Given the description of an element on the screen output the (x, y) to click on. 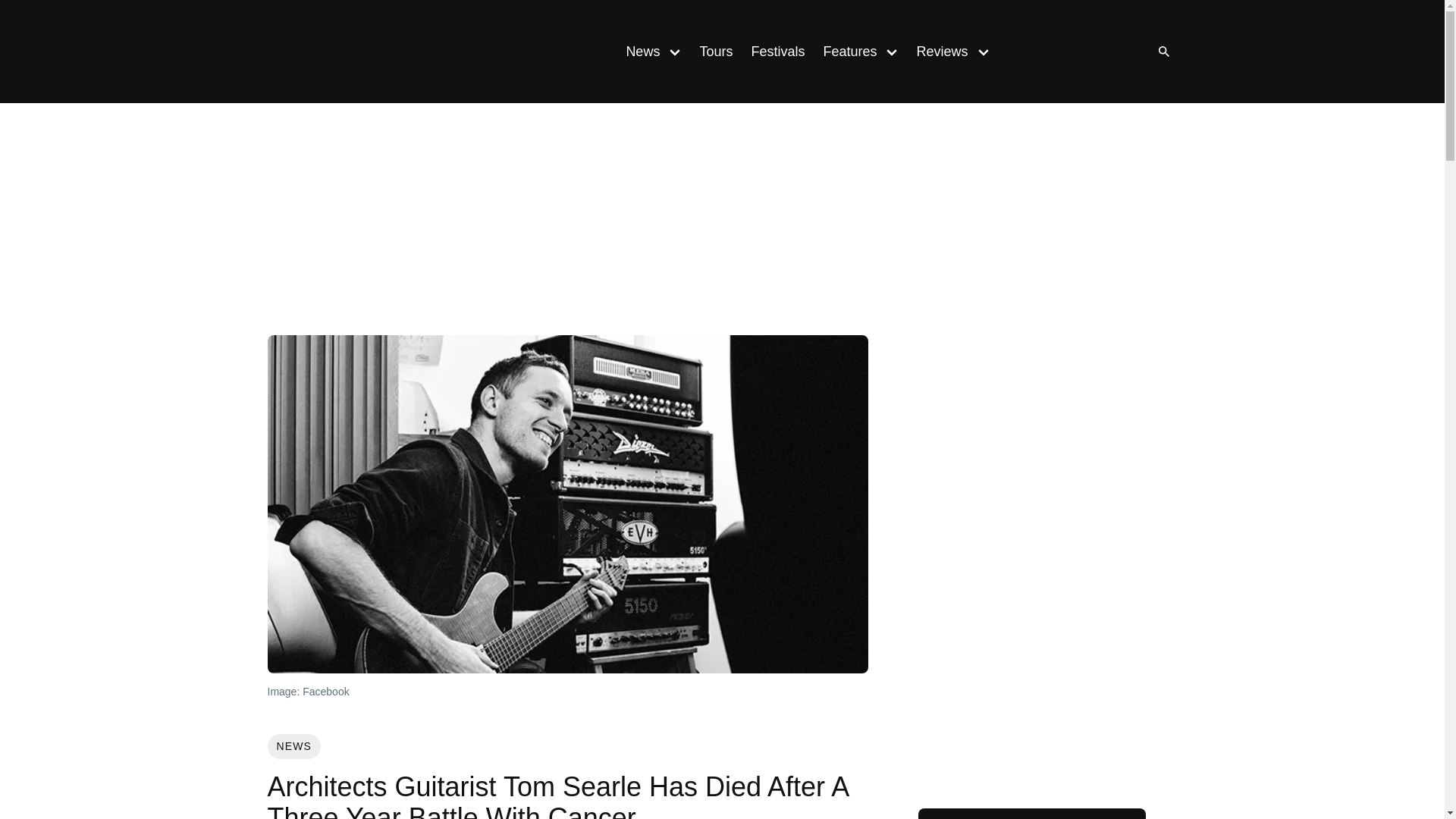
3rd party ad content (721, 222)
Twitter (1109, 51)
Tours (715, 51)
Festivals (777, 51)
Open menu (891, 51)
Open menu (982, 51)
Facebook (1079, 51)
Features (844, 51)
Instagram (1048, 51)
NEWS (293, 746)
Open menu (674, 51)
Reviews (937, 51)
